Given the description of an element on the screen output the (x, y) to click on. 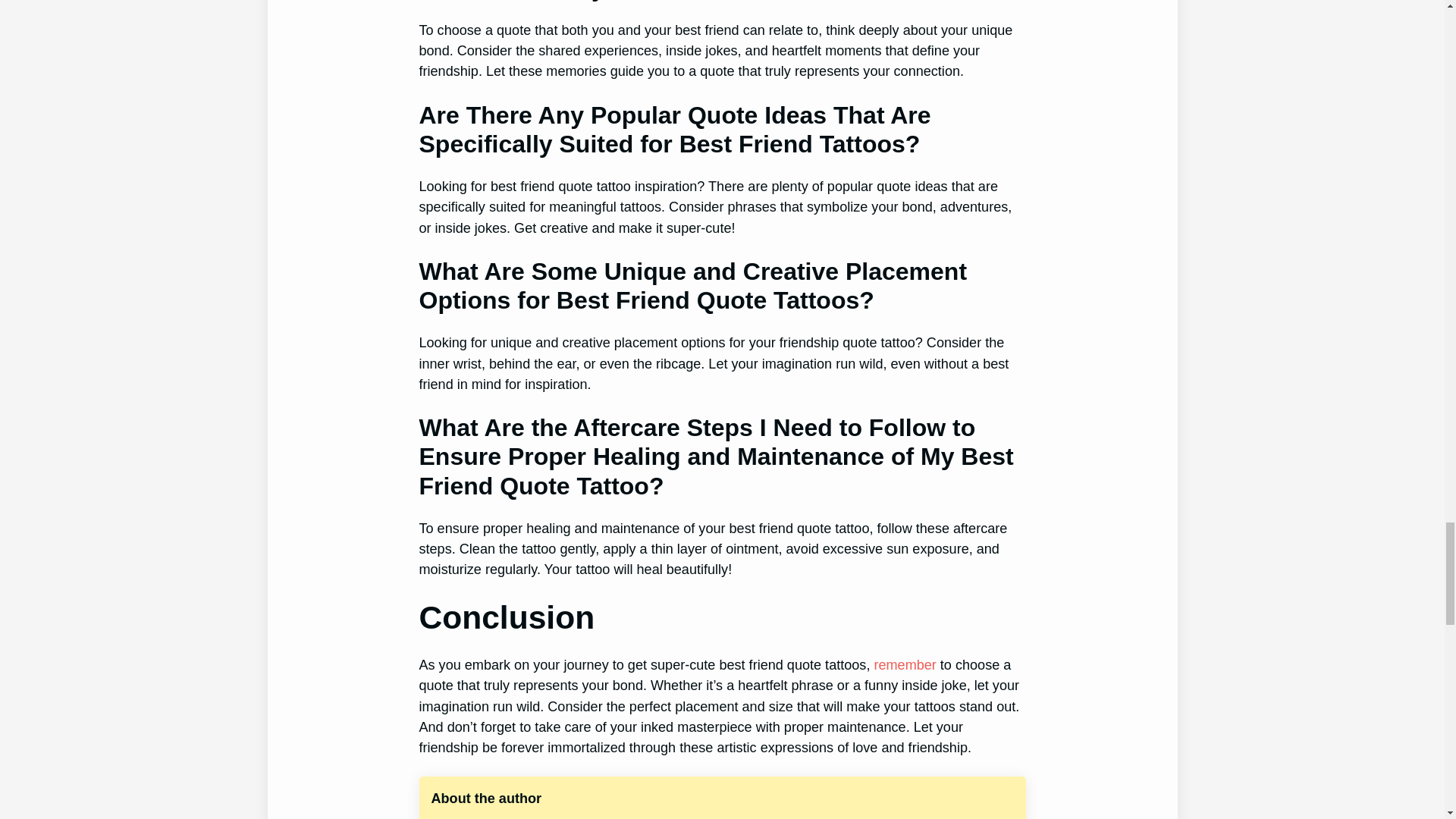
remember (904, 664)
remember (904, 664)
